Given the description of an element on the screen output the (x, y) to click on. 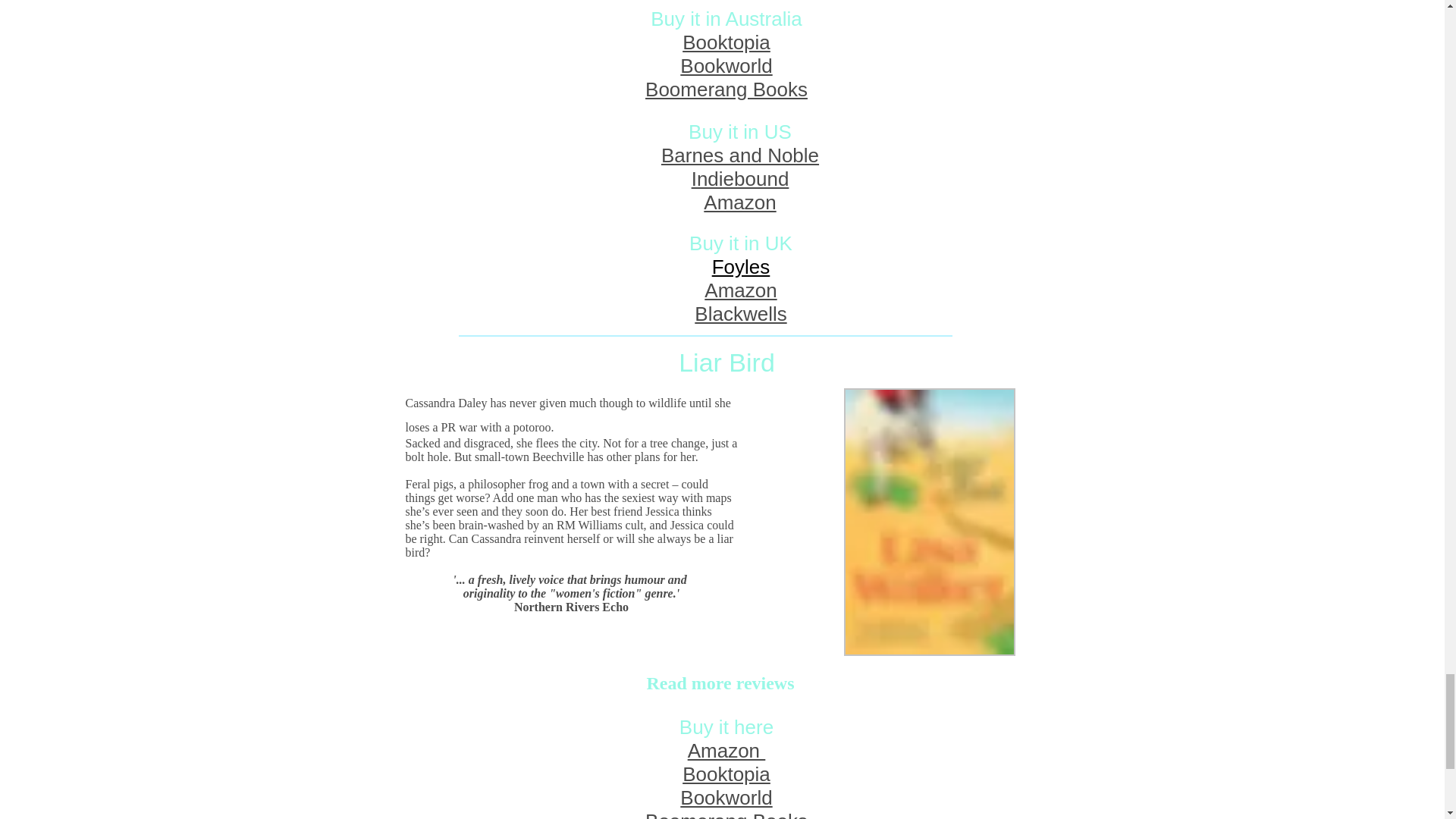
Boomerang Books (726, 88)
Bookworld (725, 65)
Booktopia (726, 42)
